Given the description of an element on the screen output the (x, y) to click on. 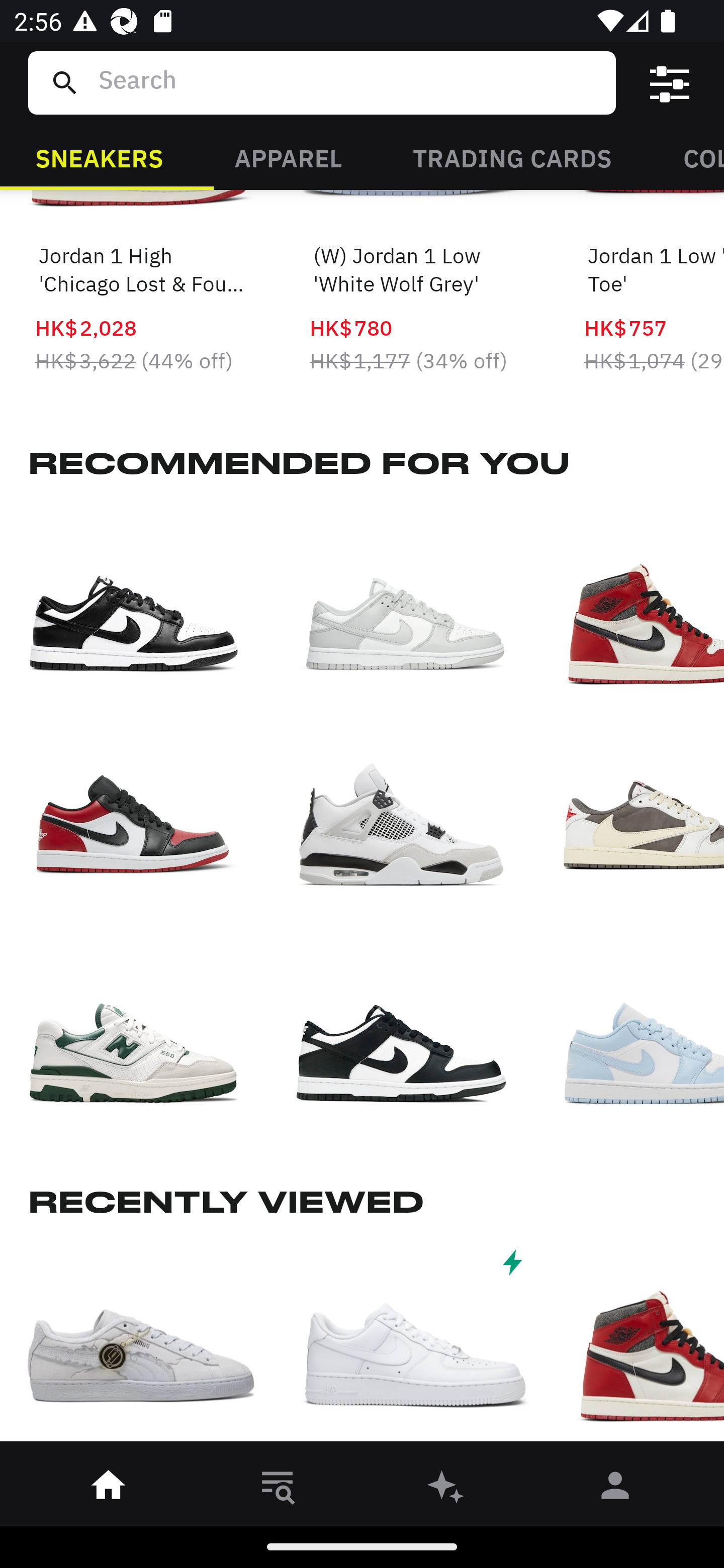
Search (349, 82)
 (669, 82)
SNEAKERS (99, 156)
APPAREL (287, 156)
TRADING CARDS (512, 156)
 (414, 1346)
󰋜 (108, 1488)
󱎸 (277, 1488)
󰫢 (446, 1488)
󰀄 (615, 1488)
